Given the description of an element on the screen output the (x, y) to click on. 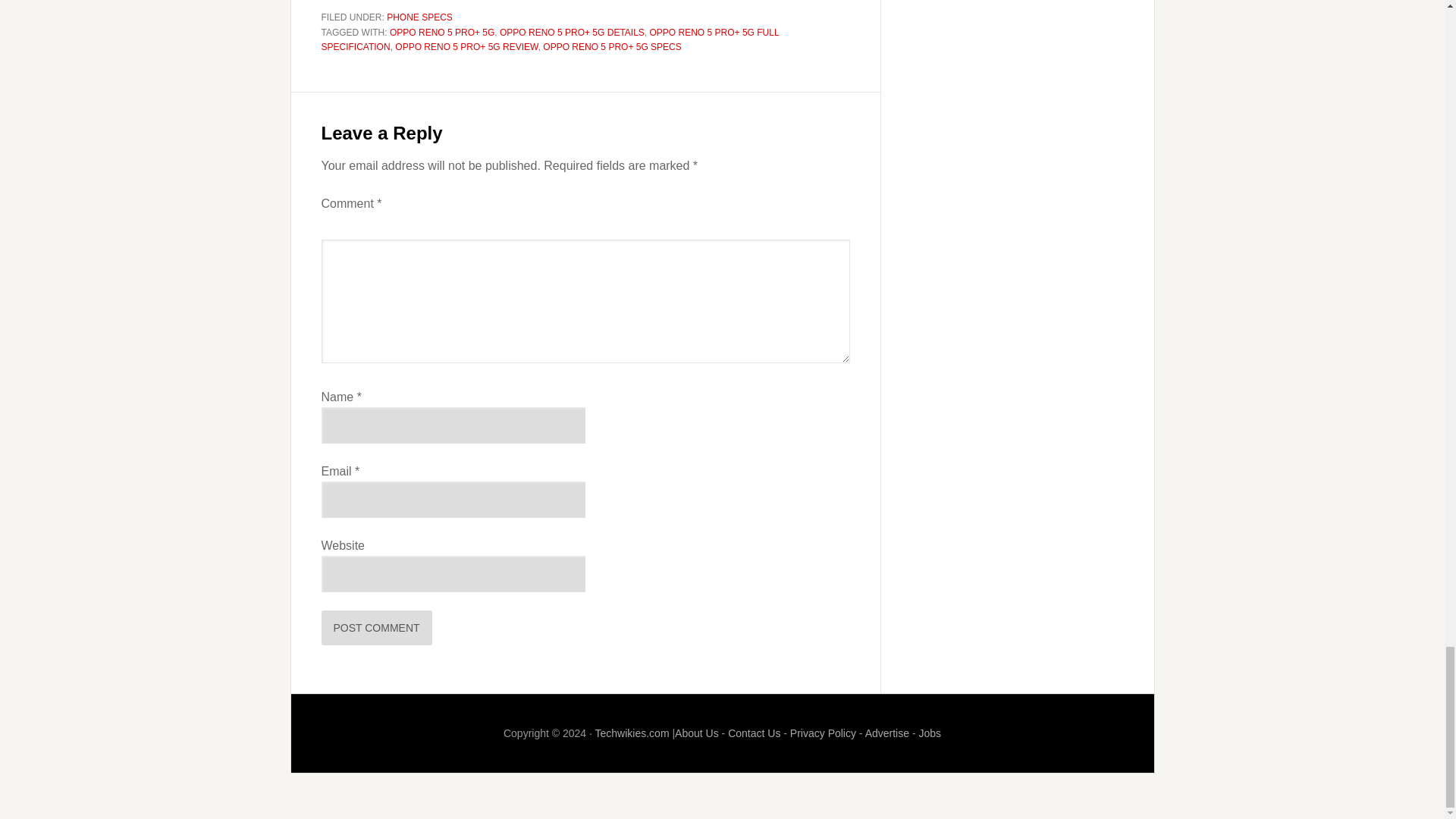
Post Comment (376, 627)
PHONE SPECS (419, 17)
Post Comment (376, 627)
